Given the description of an element on the screen output the (x, y) to click on. 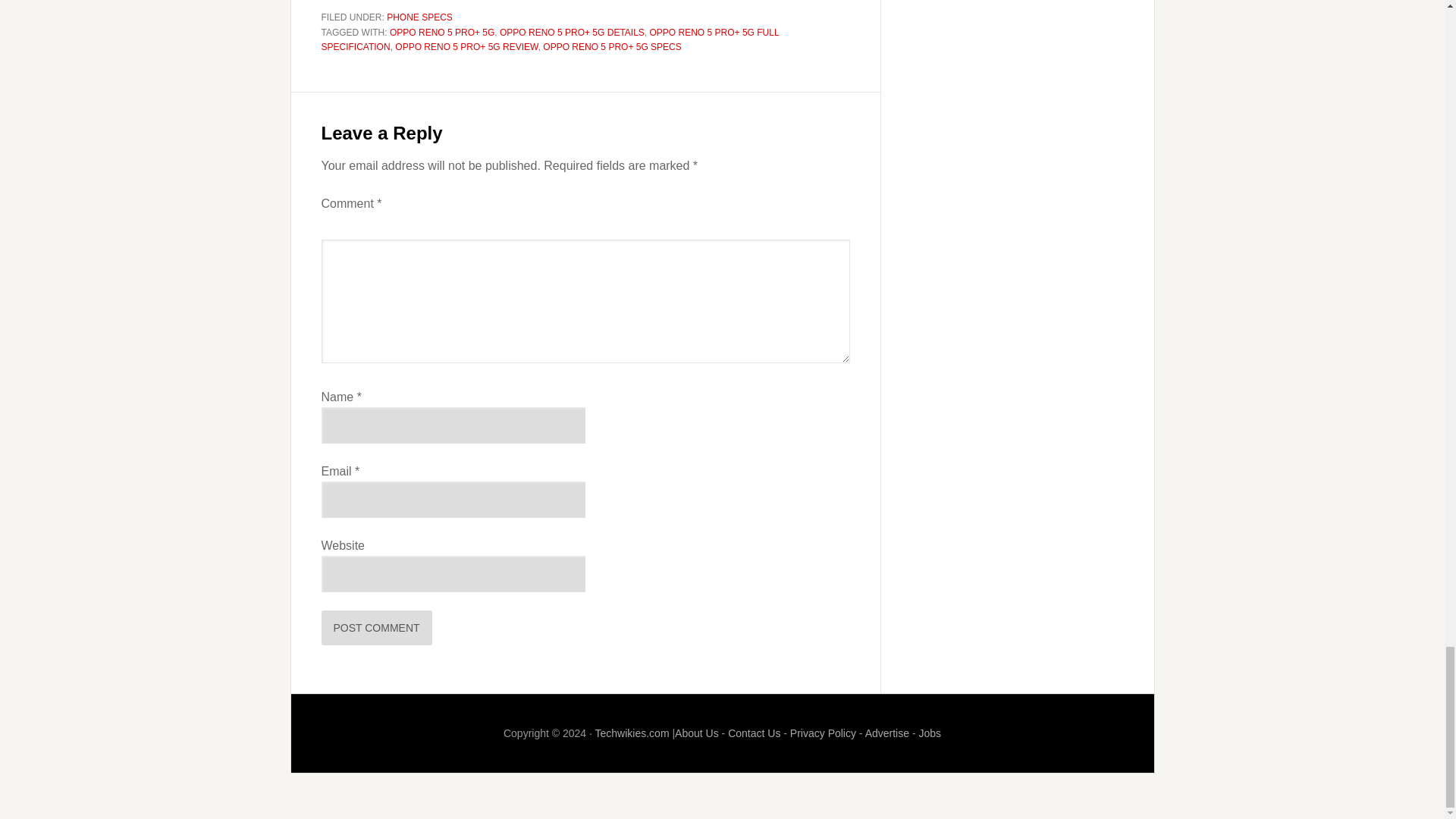
Post Comment (376, 627)
PHONE SPECS (419, 17)
Post Comment (376, 627)
